Given the description of an element on the screen output the (x, y) to click on. 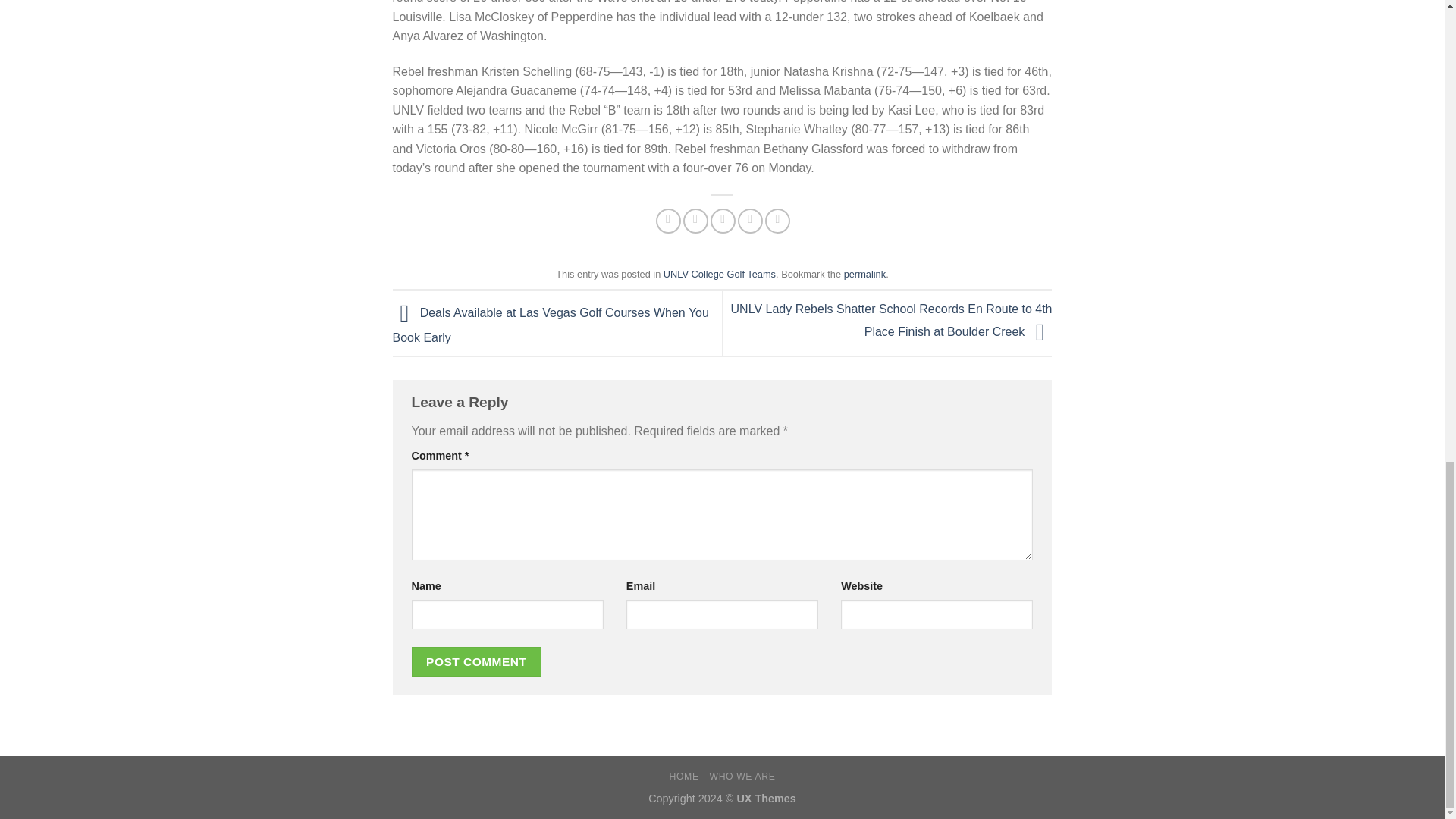
UNLV College Golf Teams (719, 274)
WHO WE ARE (741, 776)
permalink (864, 274)
Post Comment (475, 661)
HOME (683, 776)
Post Comment (475, 661)
